Given the description of an element on the screen output the (x, y) to click on. 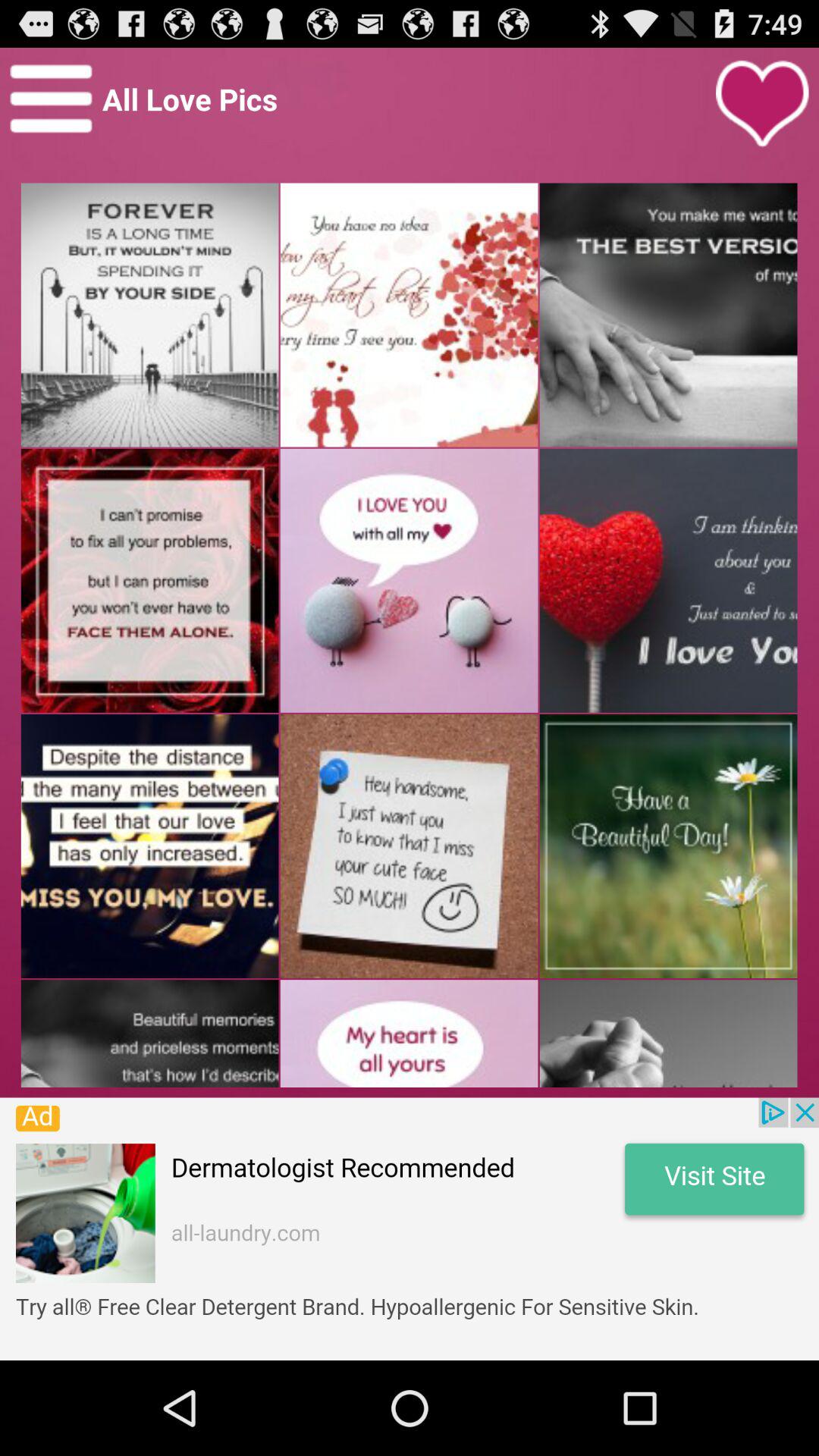
view the advertisement in a browser (409, 1228)
